Given the description of an element on the screen output the (x, y) to click on. 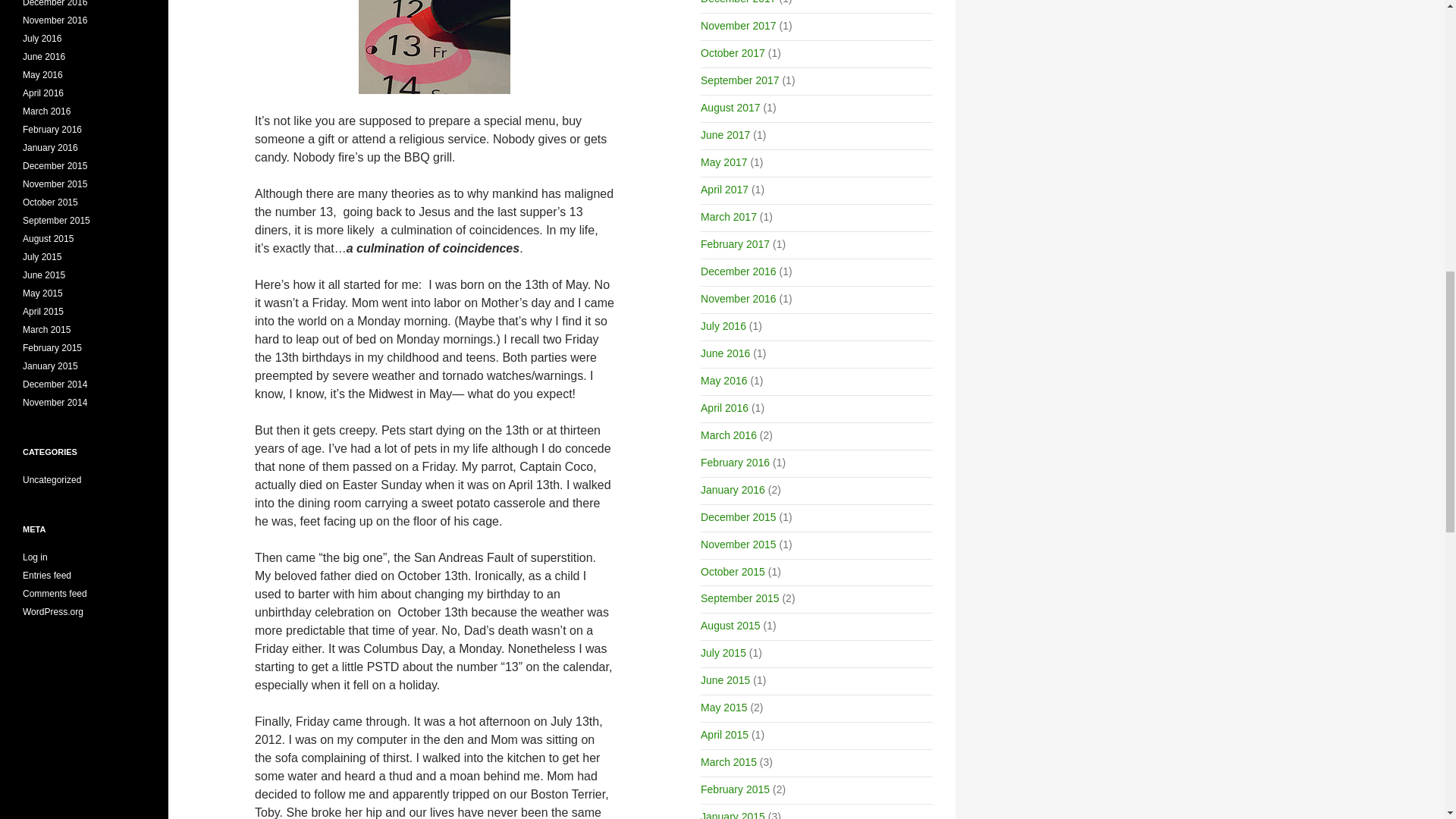
February 2017 (735, 244)
June 2016 (724, 353)
March 2017 (728, 216)
December 2017 (738, 2)
December 2016 (738, 271)
November 2017 (738, 25)
May 2016 (723, 380)
January 2016 (732, 490)
April 2017 (724, 189)
October 2017 (732, 52)
